Given the description of an element on the screen output the (x, y) to click on. 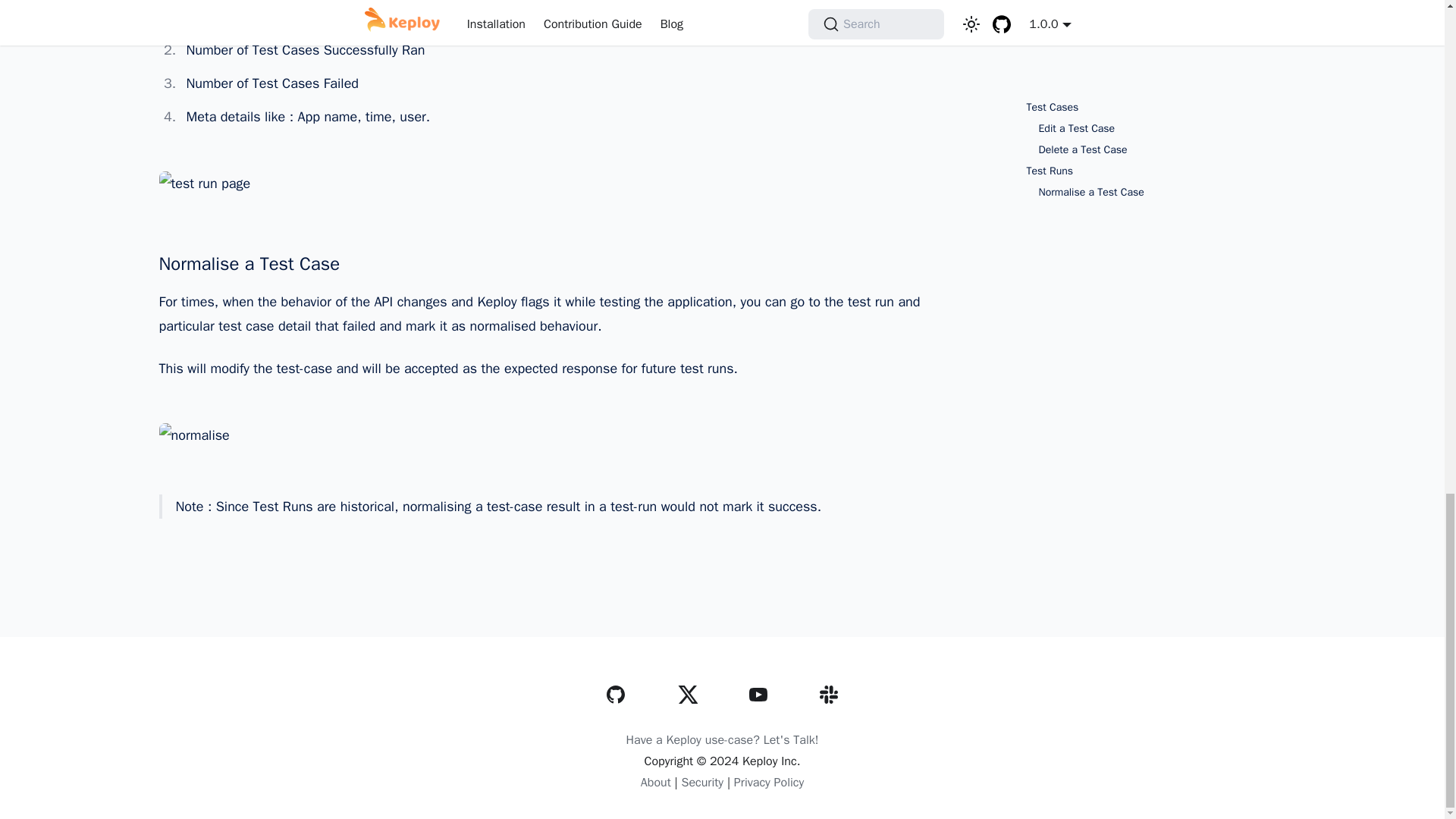
About (655, 782)
Have a Keploy use-case? Let's Talk! (722, 739)
Privacy Policy (768, 782)
Security (702, 782)
